Given the description of an element on the screen output the (x, y) to click on. 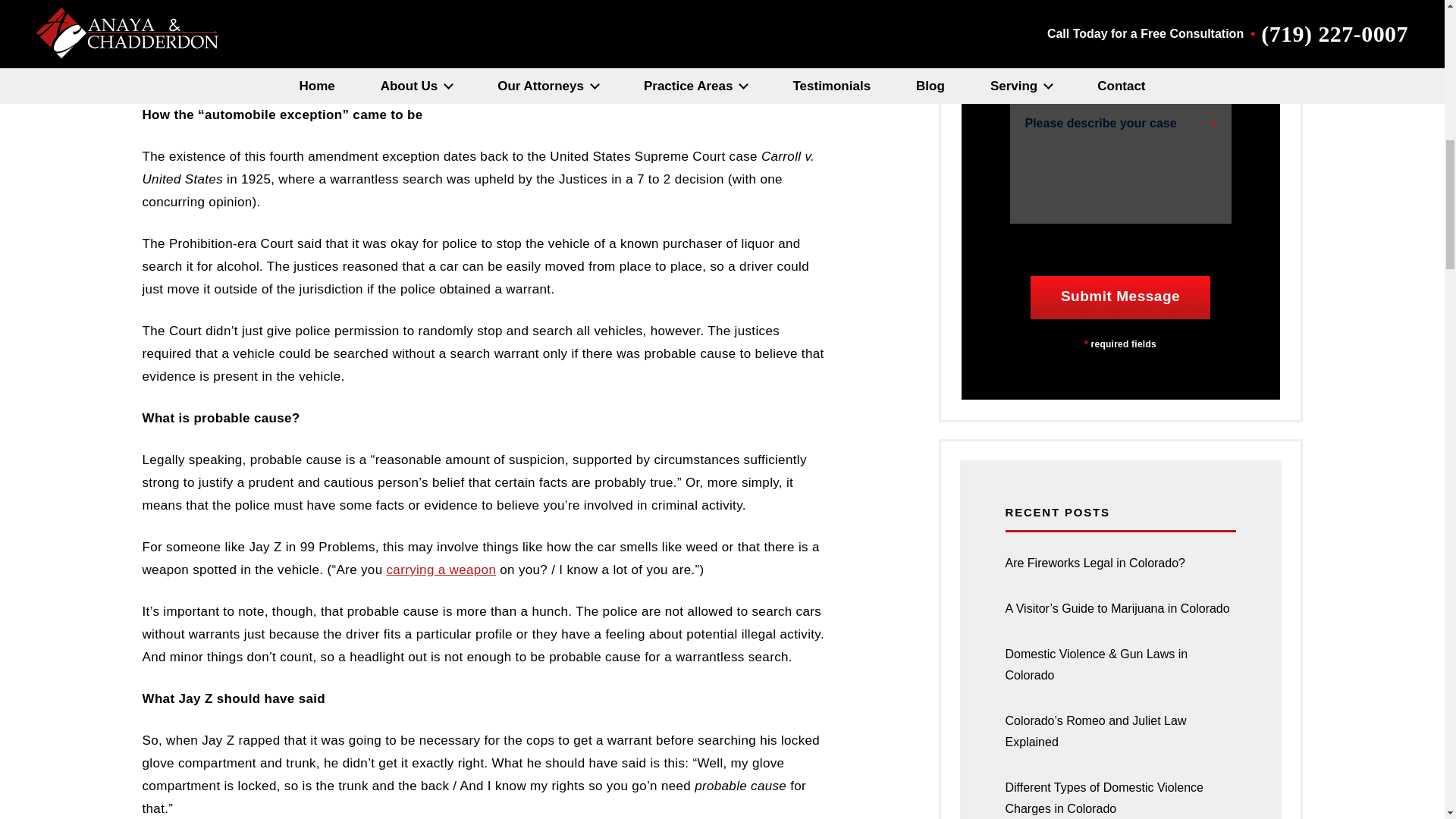
Are Fireworks Legal in Colorado? (1120, 563)
Submit Message (1119, 297)
carrying a weapon (441, 569)
Different Types of Domestic Violence Charges in Colorado (1120, 791)
